Given the description of an element on the screen output the (x, y) to click on. 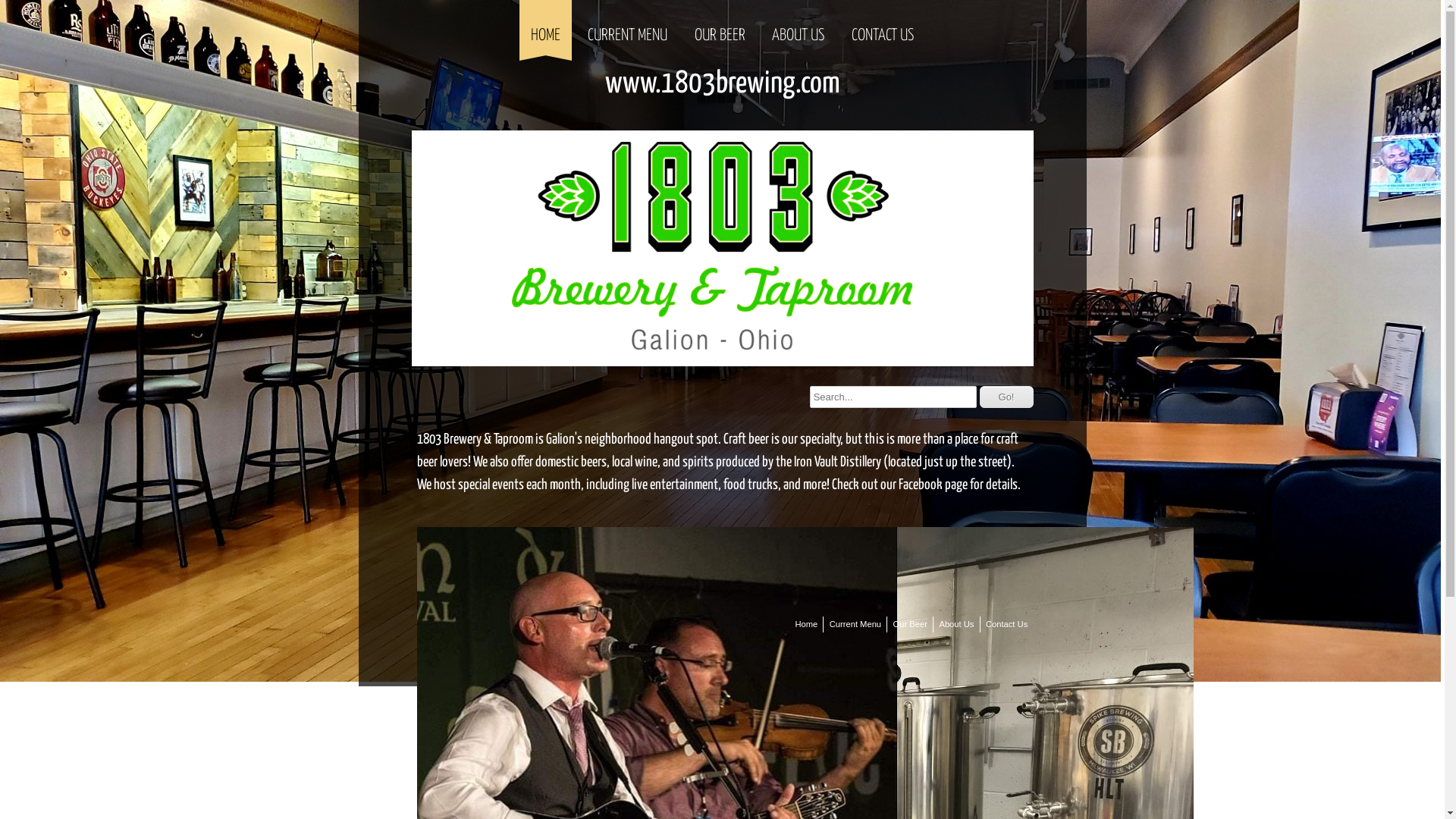
HOME Element type: text (545, 26)
Go! Element type: text (1006, 396)
Current Menu Element type: text (854, 624)
About Us Element type: text (956, 624)
www.1803brewing.com Element type: text (722, 83)
Home Element type: text (805, 624)
OUR BEER Element type: text (719, 26)
Our Beer Element type: text (910, 624)
Contact Us Element type: text (1006, 624)
ABOUT US Element type: text (797, 26)
CURRENT MENU Element type: text (627, 26)
CONTACT US Element type: text (882, 26)
